Given the description of an element on the screen output the (x, y) to click on. 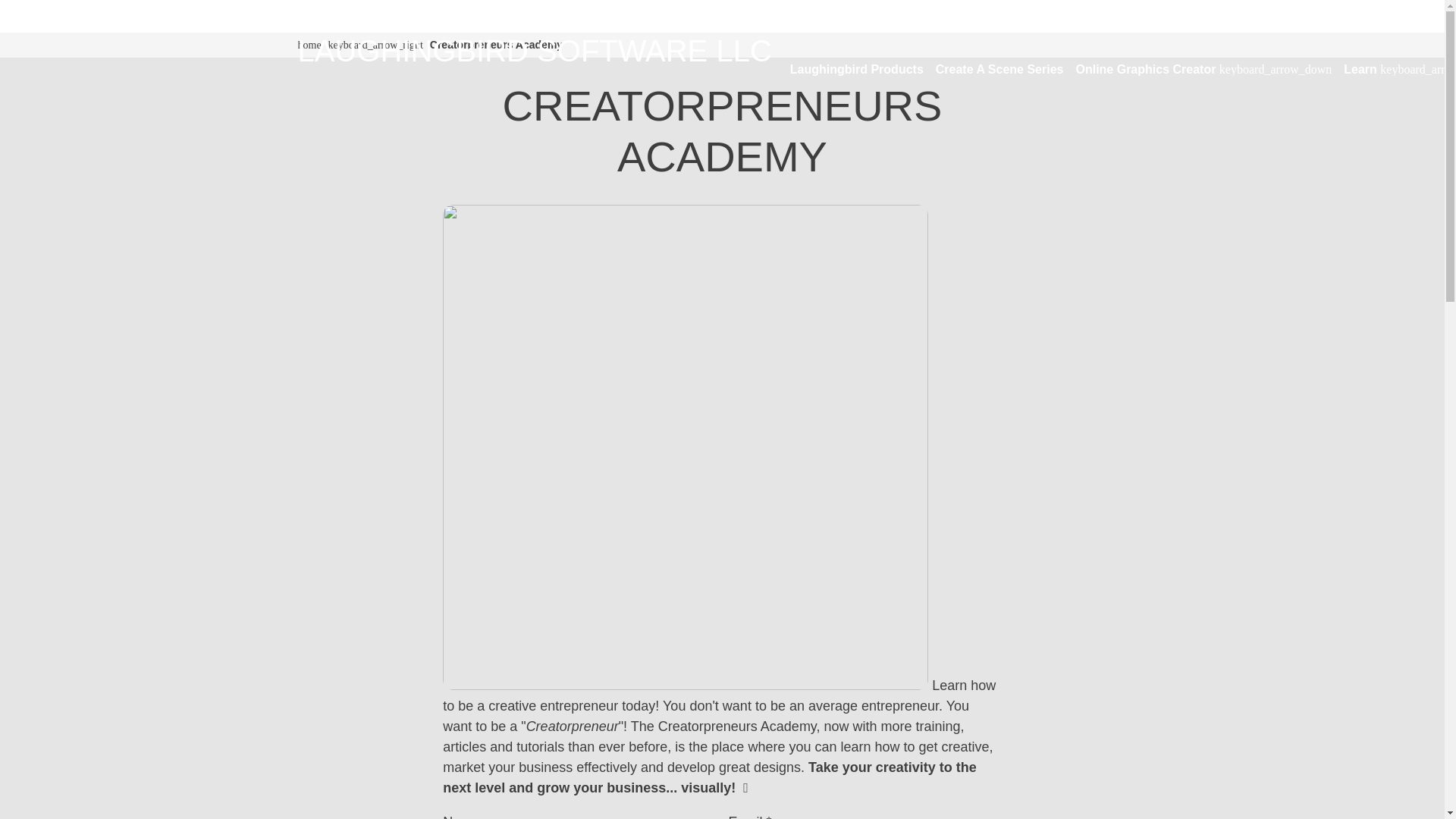
Laughingbird Software LLC on Facebook (324, 14)
Laughingbird Software LLC on Pinterest (344, 14)
Laughingbird Software LLC on Twitter (304, 14)
Laughingbird Software LLC on Youtube (365, 14)
